Given the description of an element on the screen output the (x, y) to click on. 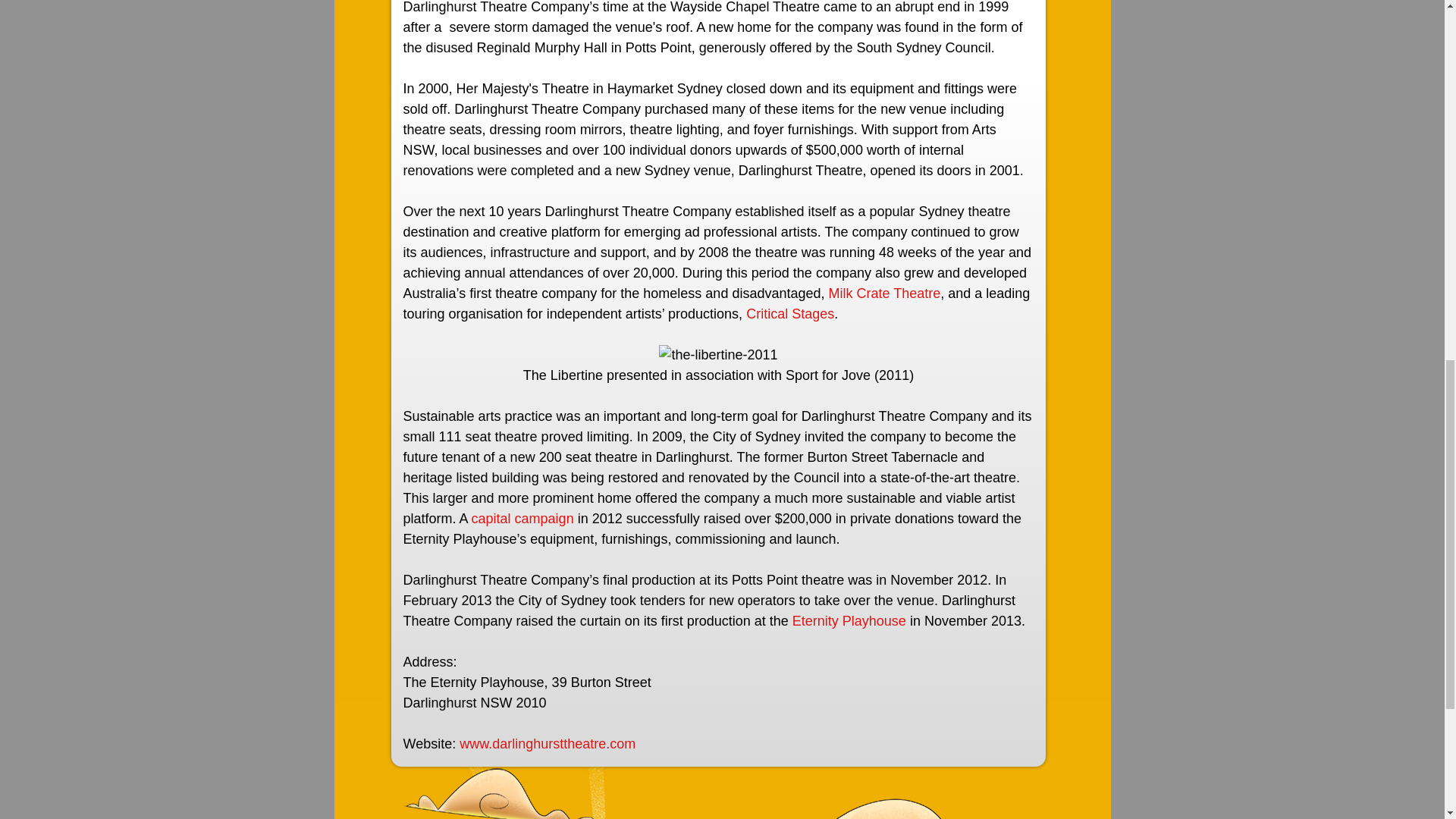
Milk Crate Theatre (884, 293)
Darlinghurst Theatre Company (549, 743)
Eternity Playhouse (848, 620)
www.darlinghursttheatre.com  (549, 743)
capital campaign (522, 518)
Critical Stages (789, 313)
